Given the description of an element on the screen output the (x, y) to click on. 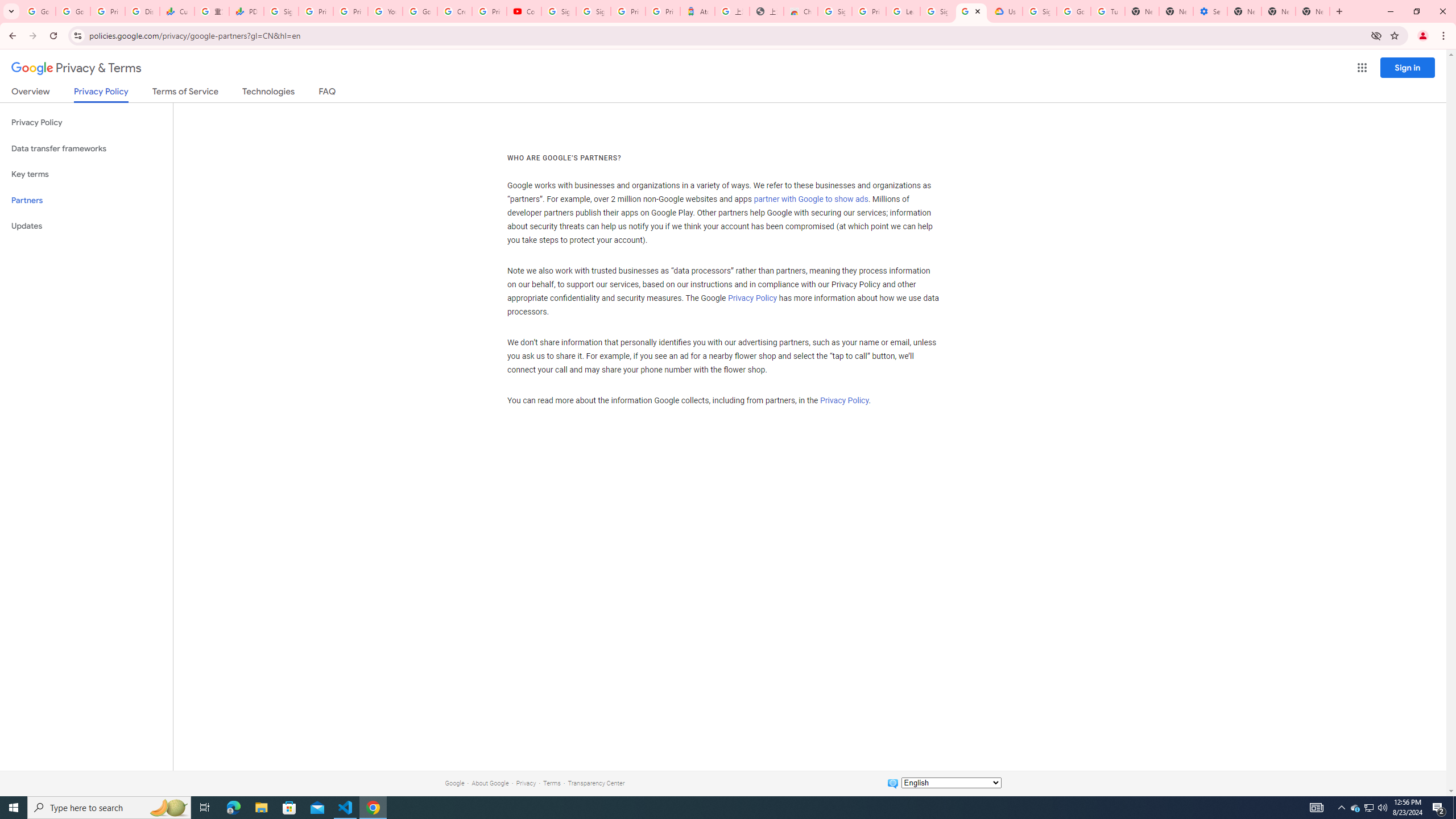
Settings - Addresses and more (1209, 11)
Google (454, 783)
Turn cookies on or off - Computer - Google Account Help (1107, 11)
Sign in - Google Accounts (557, 11)
Atour Hotel - Google hotels (697, 11)
FAQ (327, 93)
Terms of Service (184, 93)
